Given the description of an element on the screen output the (x, y) to click on. 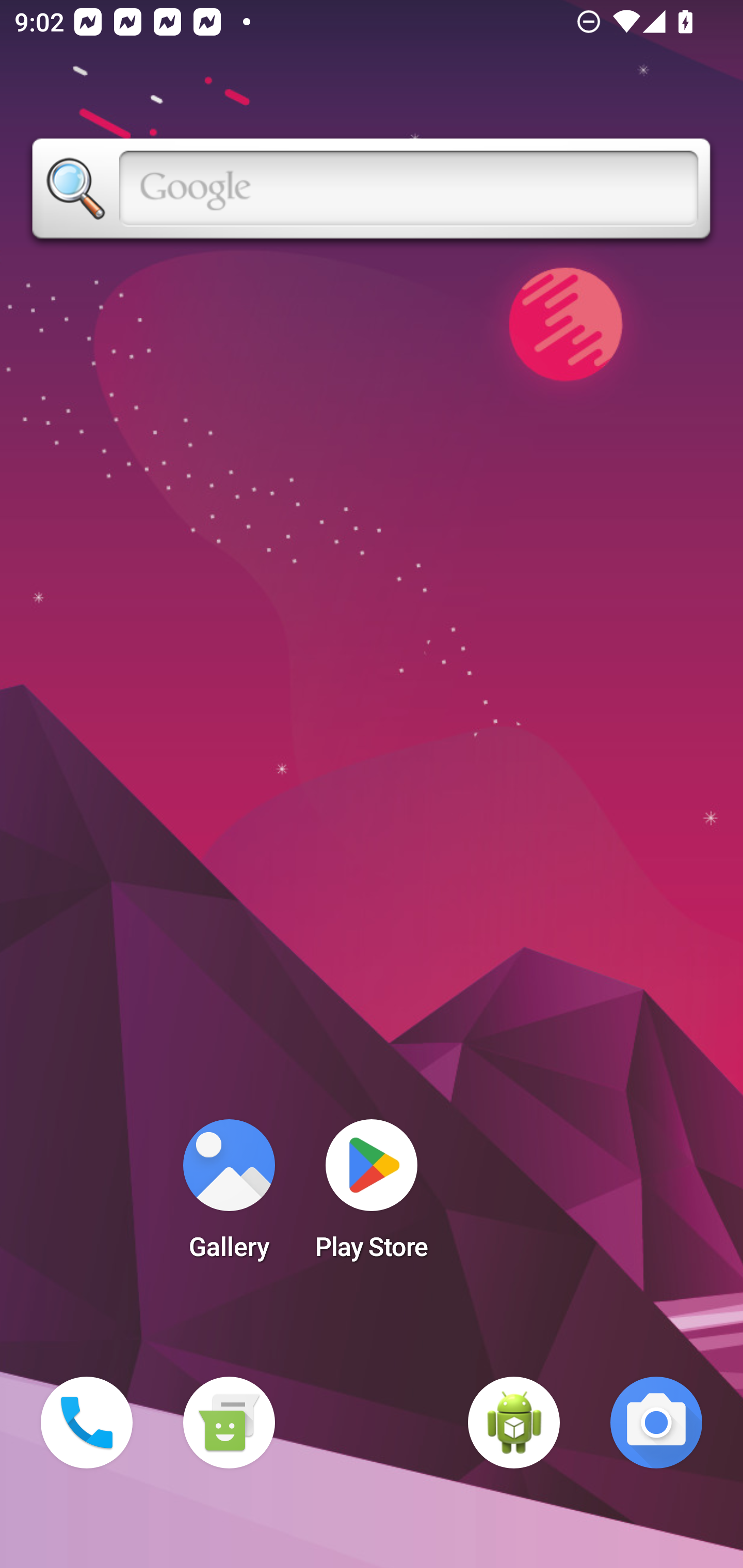
Gallery (228, 1195)
Play Store (371, 1195)
Phone (86, 1422)
Messaging (228, 1422)
WebView Browser Tester (513, 1422)
Camera (656, 1422)
